Given the description of an element on the screen output the (x, y) to click on. 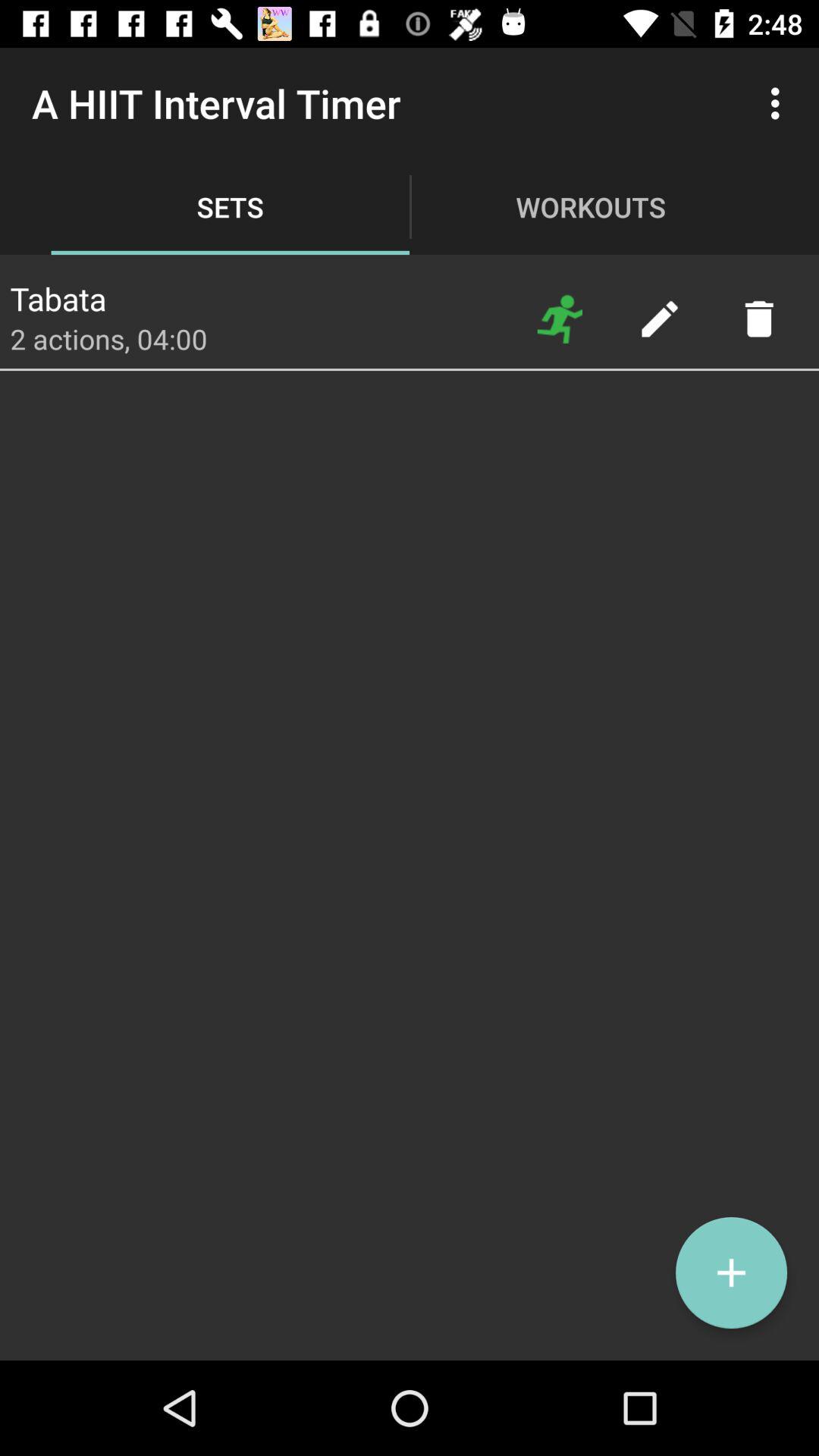
tap the app below the a hiit interval app (58, 294)
